Given the description of an element on the screen output the (x, y) to click on. 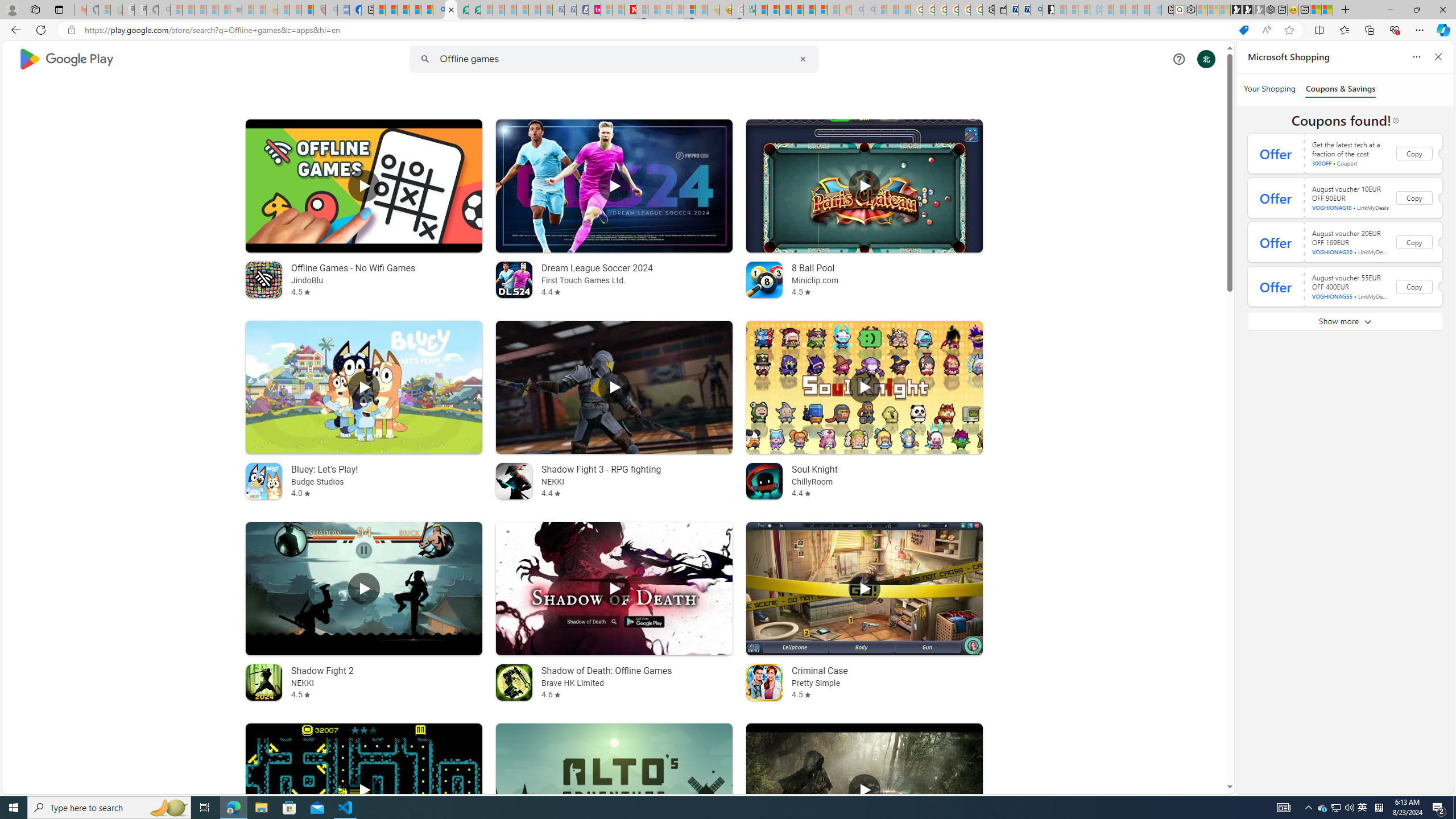
Robert H. Shmerling, MD - Harvard Health - Sleeping (319, 9)
Tab actions menu (58, 9)
Play Tomb of the Mask (363, 789)
Microsoft Word - consumer-privacy address update 2.2021 (475, 9)
Settings (1190, 9)
Play Free Online Games | Games from Microsoft Start (1235, 9)
Play Criminal Case (864, 588)
